Given the description of an element on the screen output the (x, y) to click on. 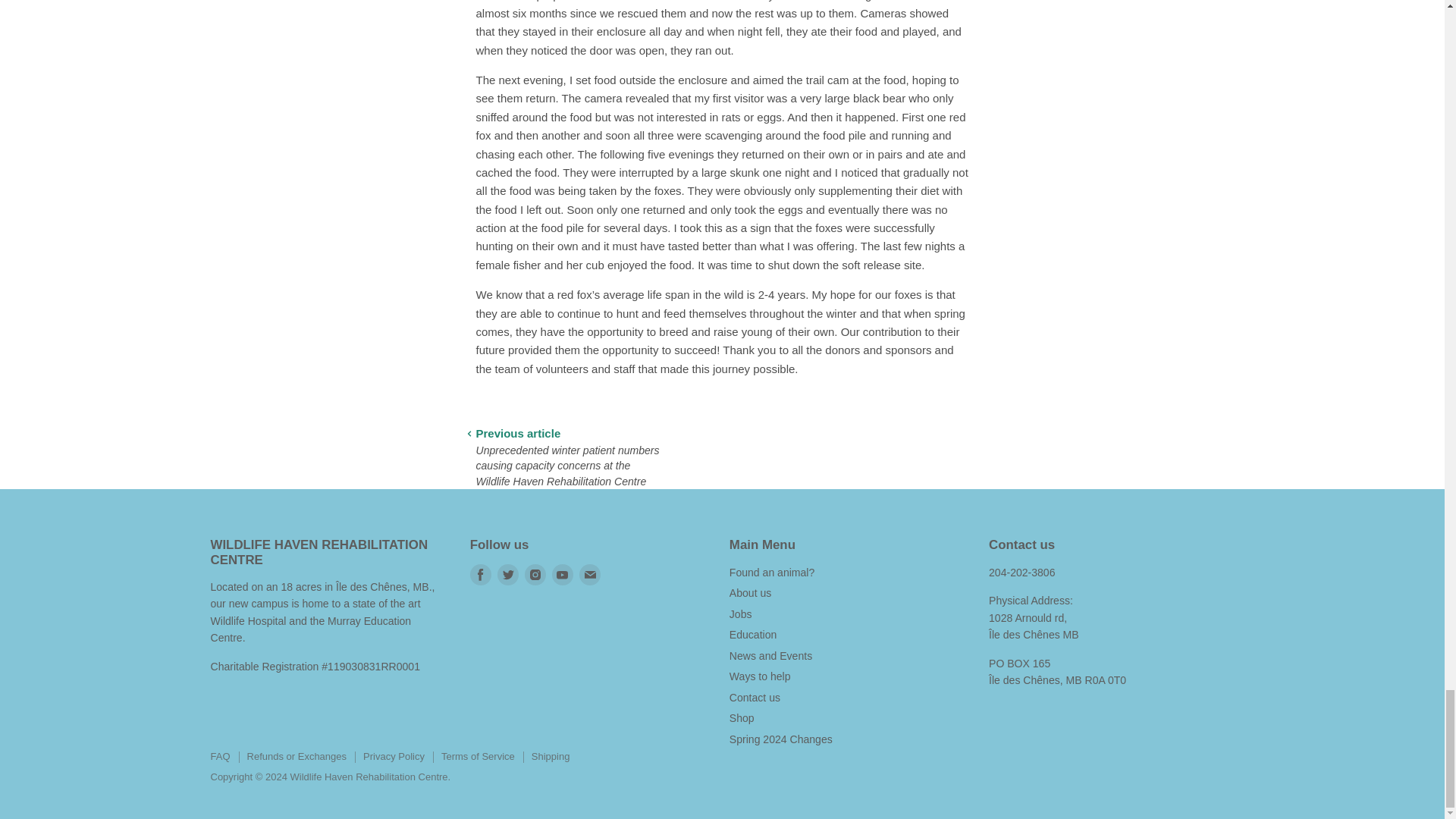
Youtube (562, 574)
Facebook (481, 574)
Twitter (508, 574)
E-mail (590, 574)
Instagram (534, 574)
